Given the description of an element on the screen output the (x, y) to click on. 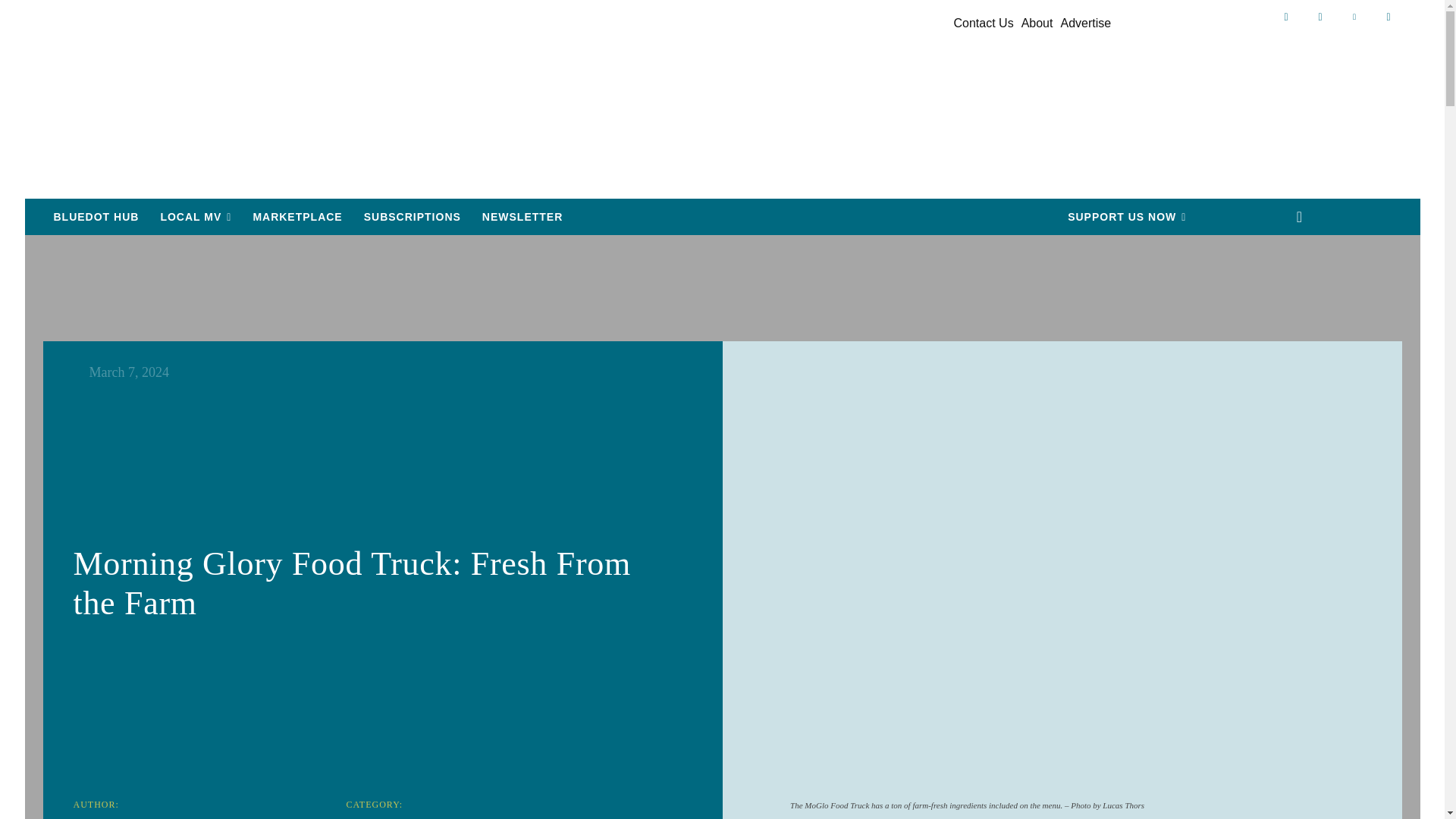
About (1037, 23)
LOCAL MV (195, 217)
Facebook (1285, 17)
SUBSCRIPTIONS (412, 217)
BLUEDOT HUB (95, 217)
Advertise (1084, 23)
Pinterest (1353, 17)
Instagram (1319, 17)
MARKETPLACE (296, 217)
NEWSLETTER (522, 217)
